Given the description of an element on the screen output the (x, y) to click on. 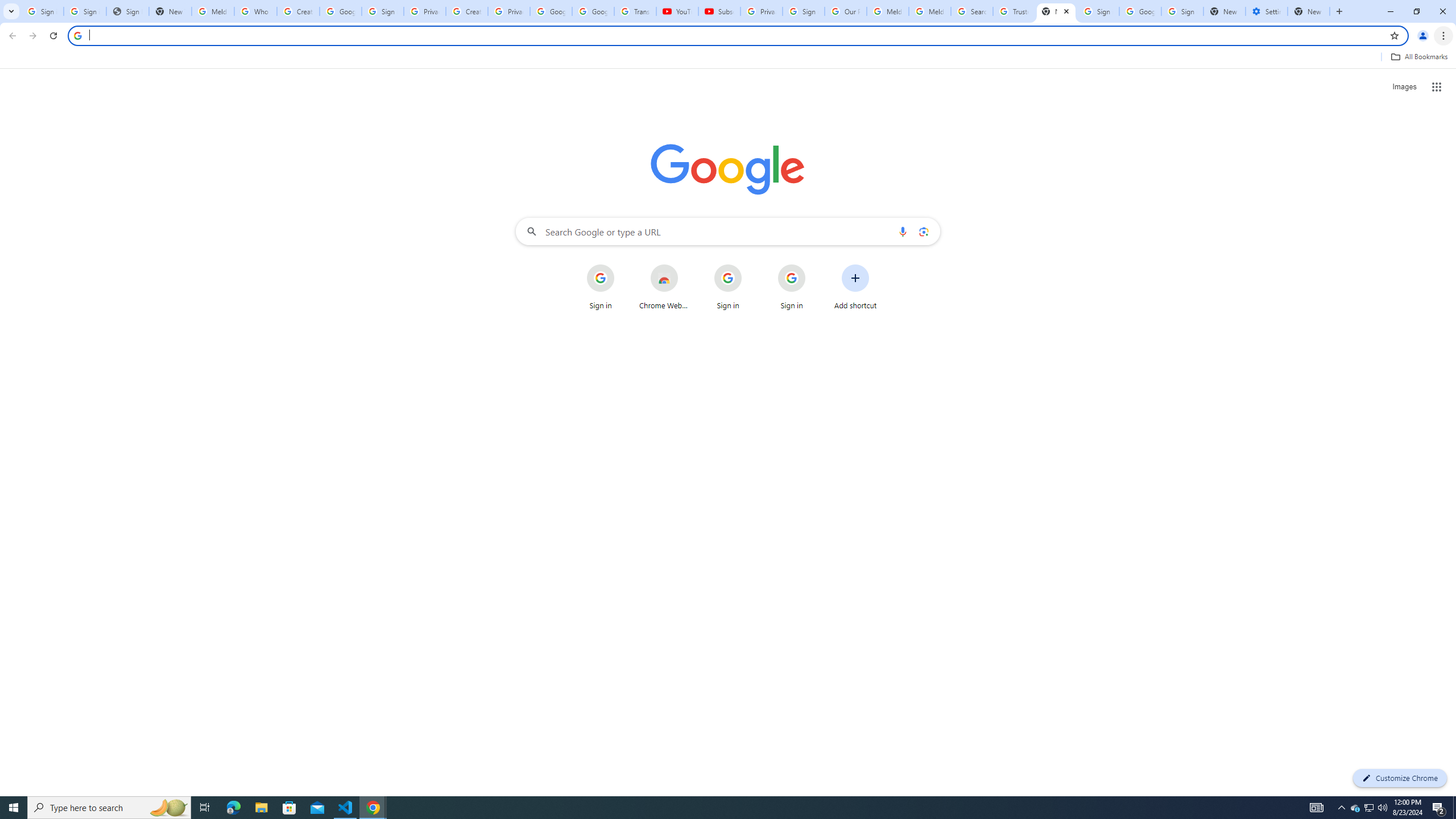
Search Google or type a URL (727, 230)
More actions for Chrome Web Store shortcut (686, 265)
Sign in - Google Accounts (42, 11)
Bookmarks (728, 58)
Search by image (922, 230)
